Given the description of an element on the screen output the (x, y) to click on. 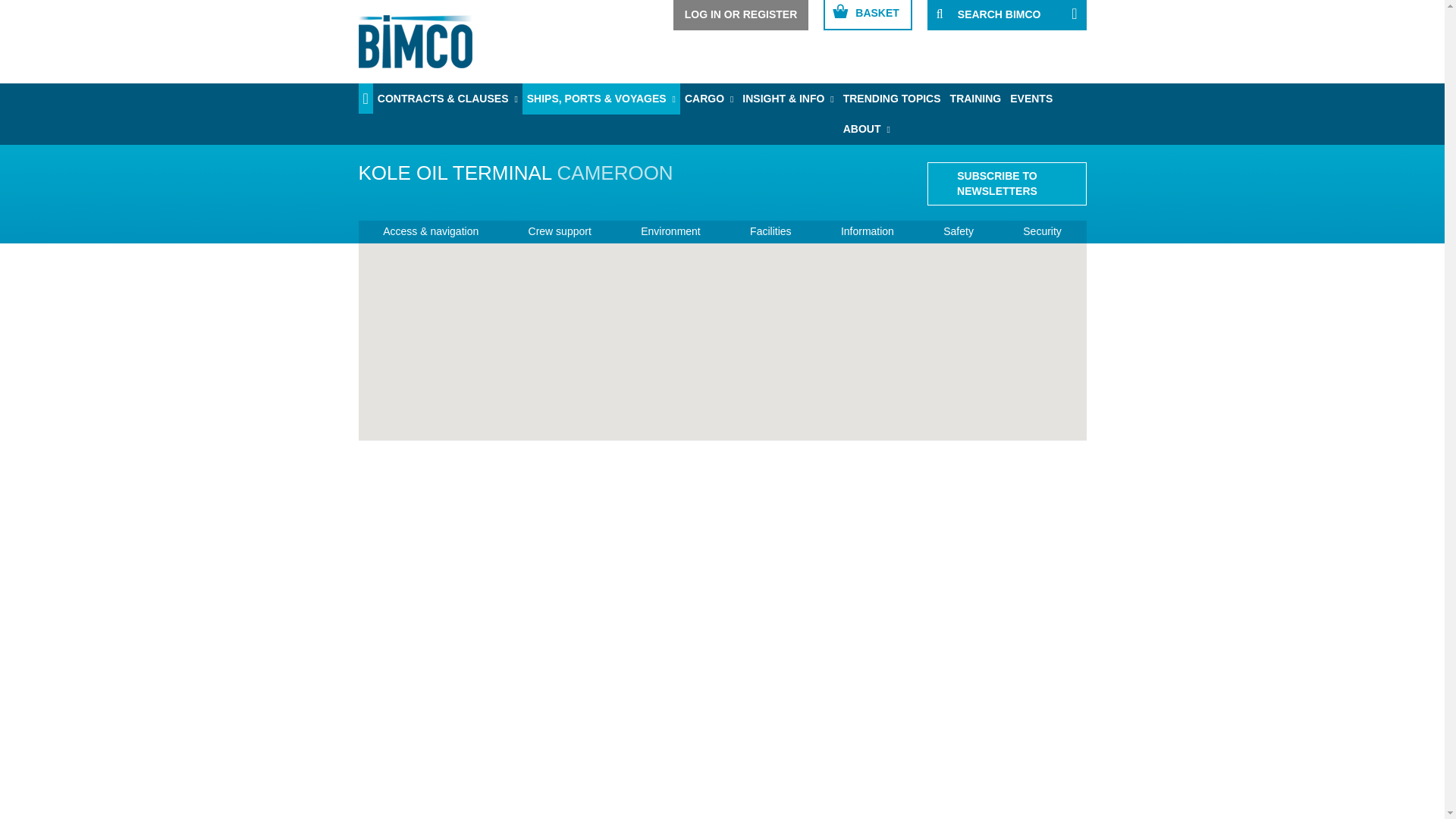
BASKET (868, 15)
LOG IN OR REGISTER (740, 15)
SEARCH BIMCO (1006, 15)
CARGO (708, 98)
